Given the description of an element on the screen output the (x, y) to click on. 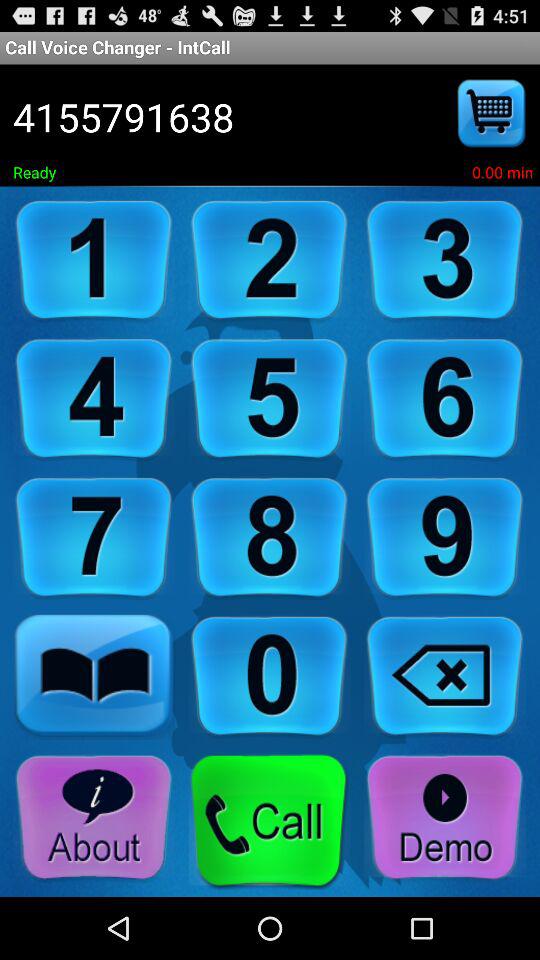
input number (445, 260)
